Given the description of an element on the screen output the (x, y) to click on. 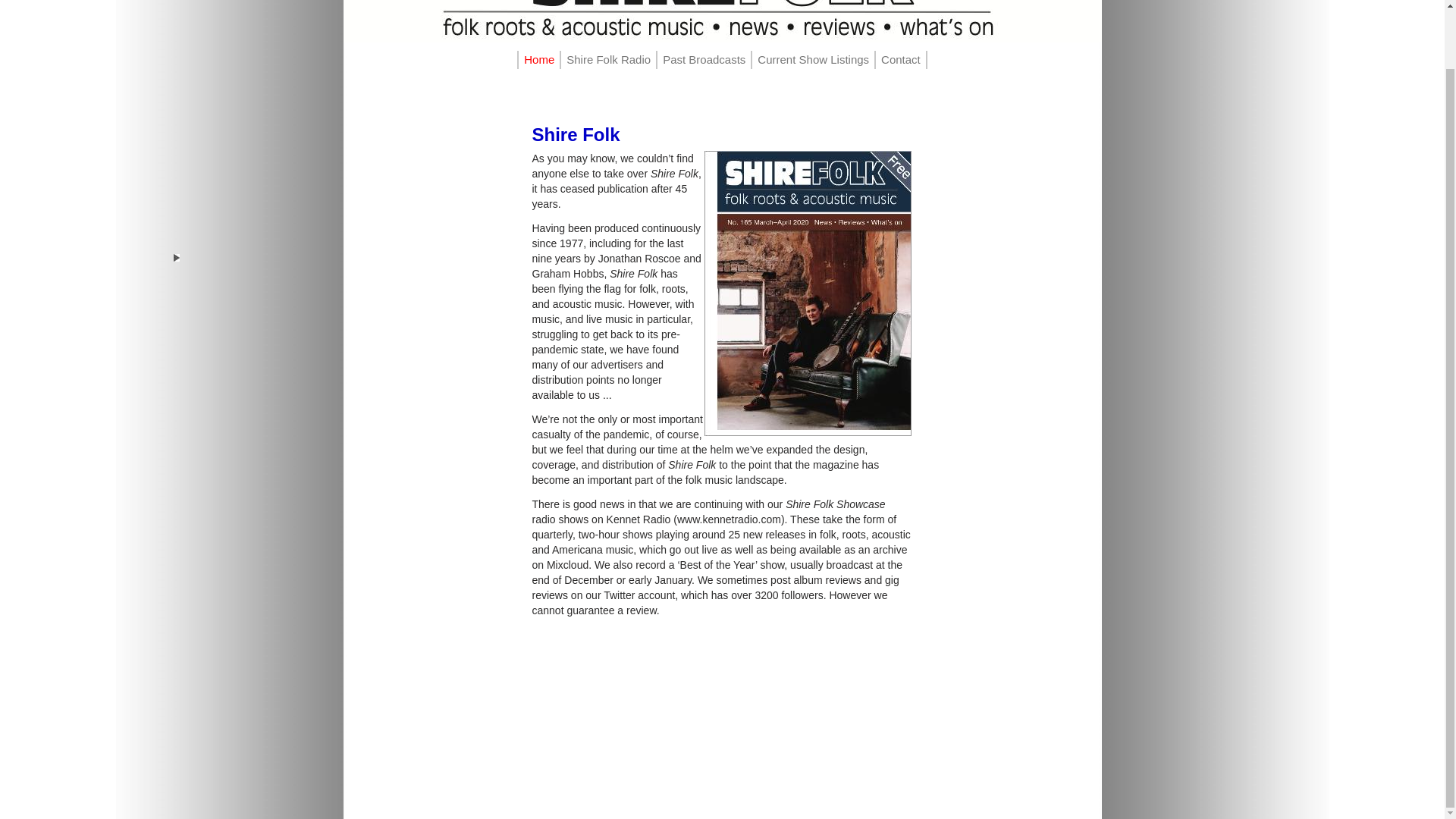
Past Broadcasts (704, 59)
Home (538, 59)
Shire Folk Radio (608, 59)
Current Show Listings (813, 59)
Contact (901, 59)
